Given the description of an element on the screen output the (x, y) to click on. 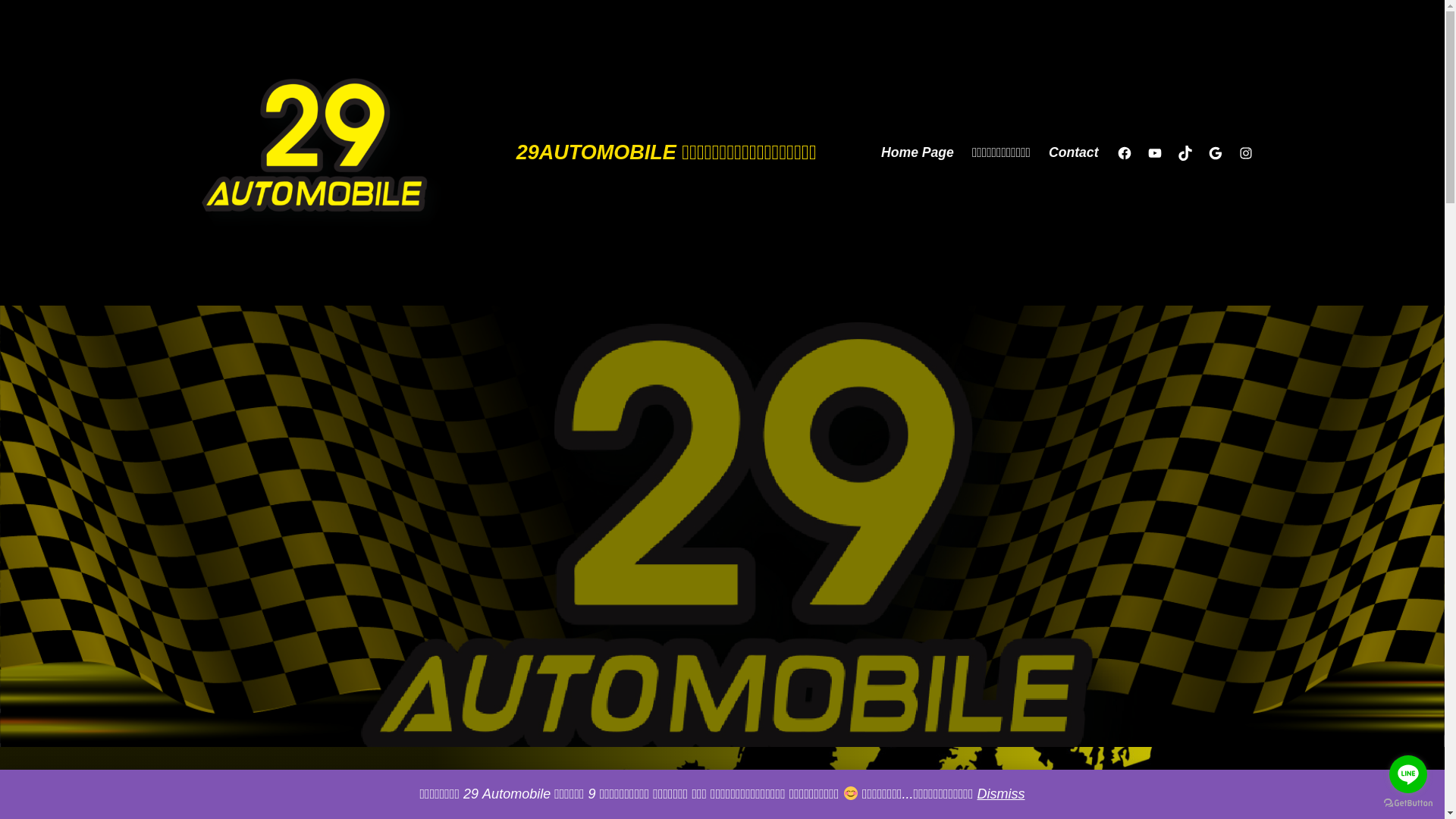
Instagram Element type: text (1244, 152)
Dismiss Element type: text (1000, 793)
Contact Element type: text (1073, 152)
Home Page Element type: text (917, 152)
TikTok Element type: text (1184, 152)
YouTube Element type: text (1153, 152)
https://www.facebook.com/29Automobile Element type: text (1123, 152)
Google Element type: text (1214, 152)
